Given the description of an element on the screen output the (x, y) to click on. 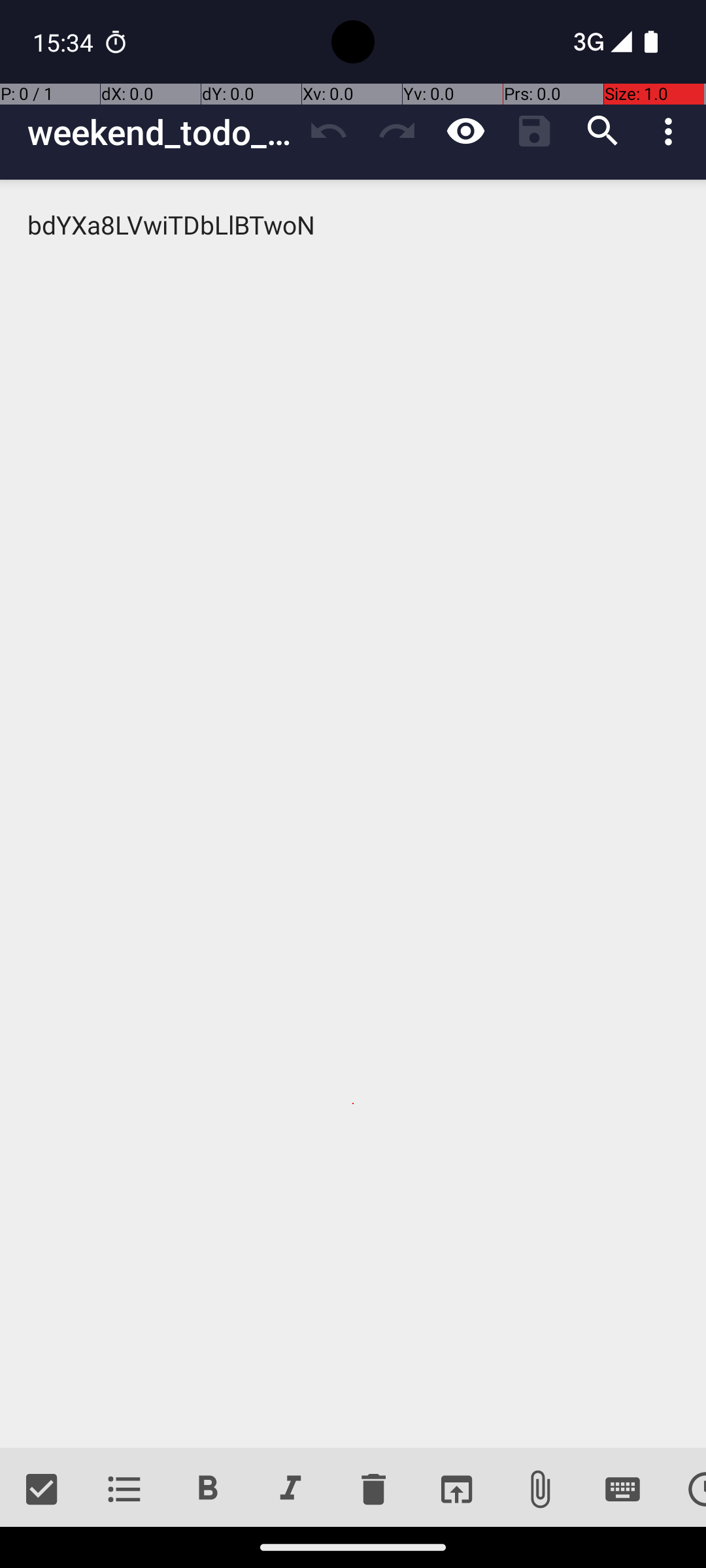
weekend_todo_list_edited Element type: android.widget.TextView (160, 131)
bdYXa8LVwiTDbLlBTwoN
 Element type: android.widget.EditText (353, 813)
